Given the description of an element on the screen output the (x, y) to click on. 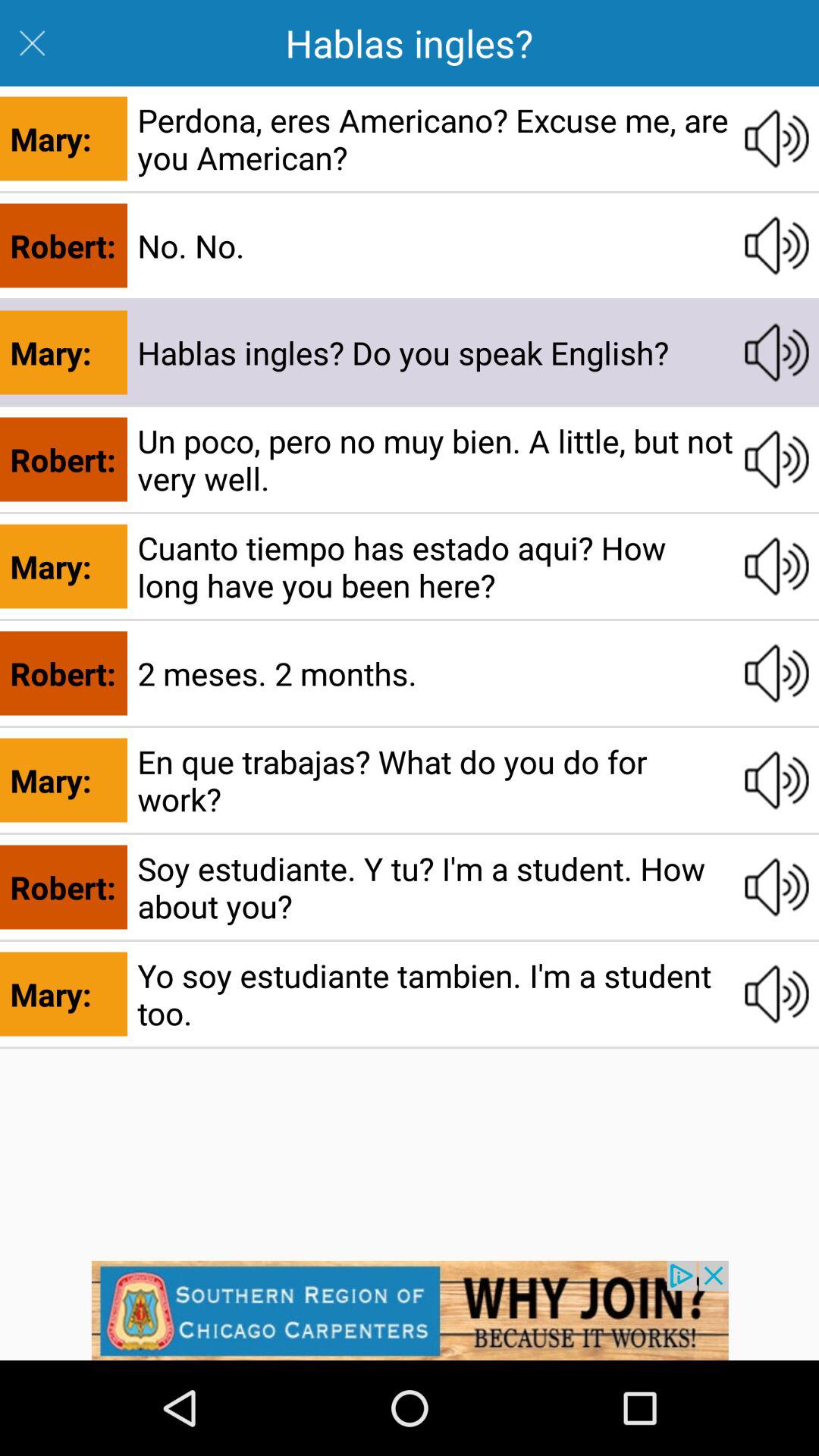
volume adjustment (776, 994)
